Given the description of an element on the screen output the (x, y) to click on. 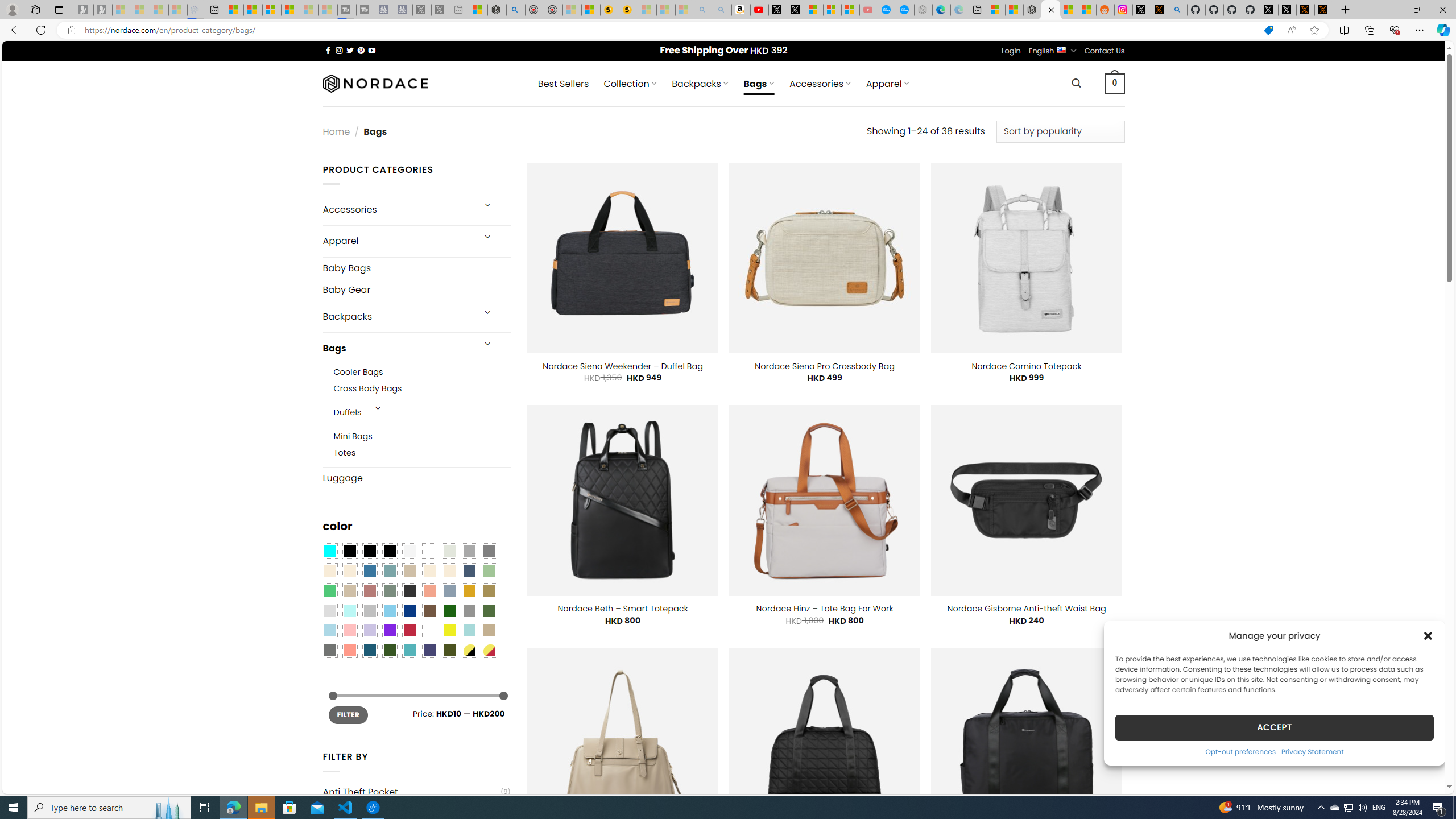
Green (488, 610)
  Best Sellers (563, 83)
Nordace Gisborne Anti-theft Waist Bag (1026, 608)
Split screen (1344, 29)
Anti Theft Pocket (410, 791)
Pink (349, 630)
Contact Us (1104, 50)
Baby Gear (416, 289)
Peach Pink (349, 649)
Light Gray (329, 610)
Cooler Bags (422, 371)
Mini Bags (422, 436)
